Given the description of an element on the screen output the (x, y) to click on. 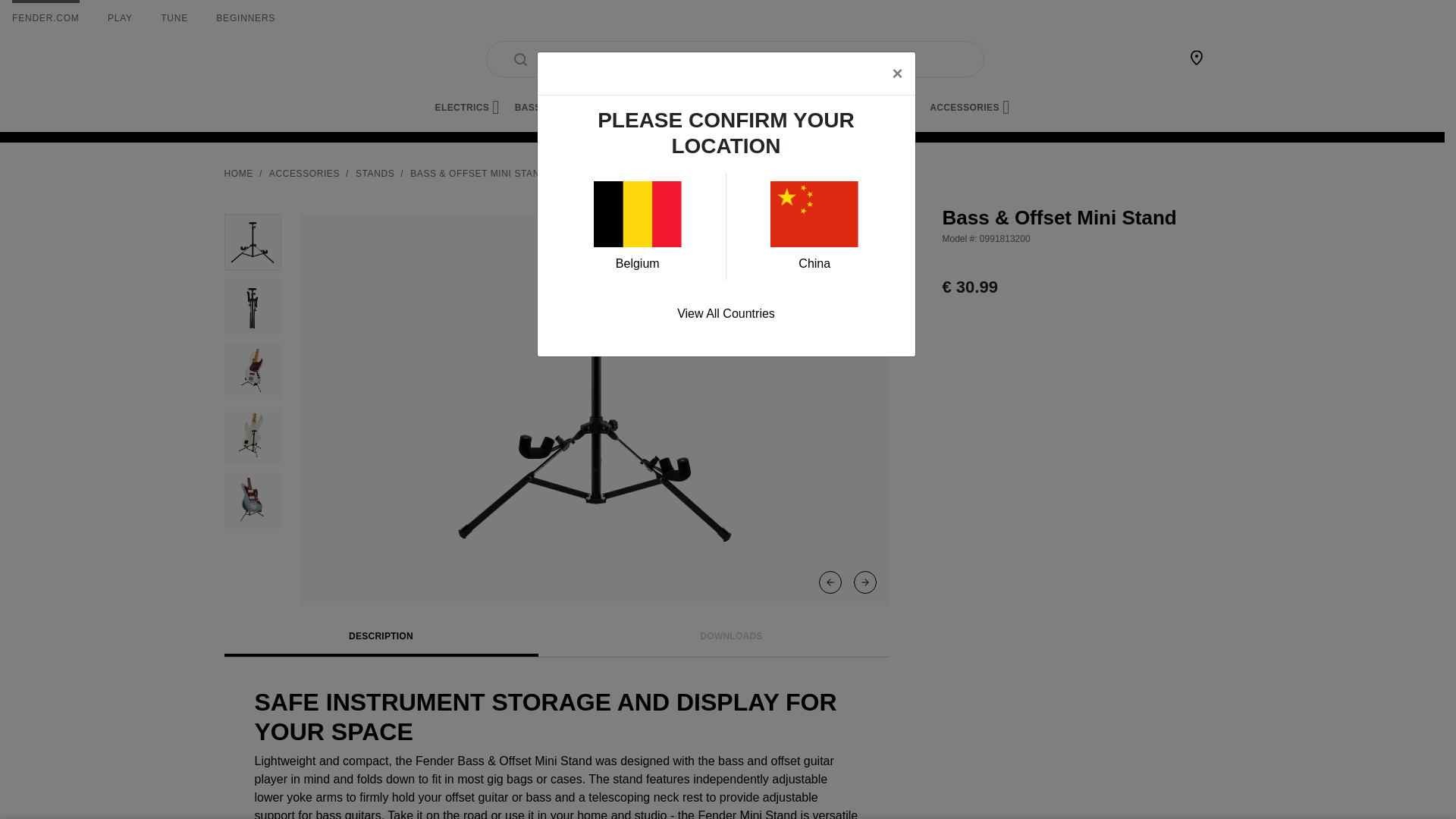
PLAY (119, 18)
ELECTRICS (467, 107)
FENDER.COM (45, 18)
TUNE (173, 18)
BEGINNERS (245, 18)
Fender Home (261, 58)
